Given the description of an element on the screen output the (x, y) to click on. 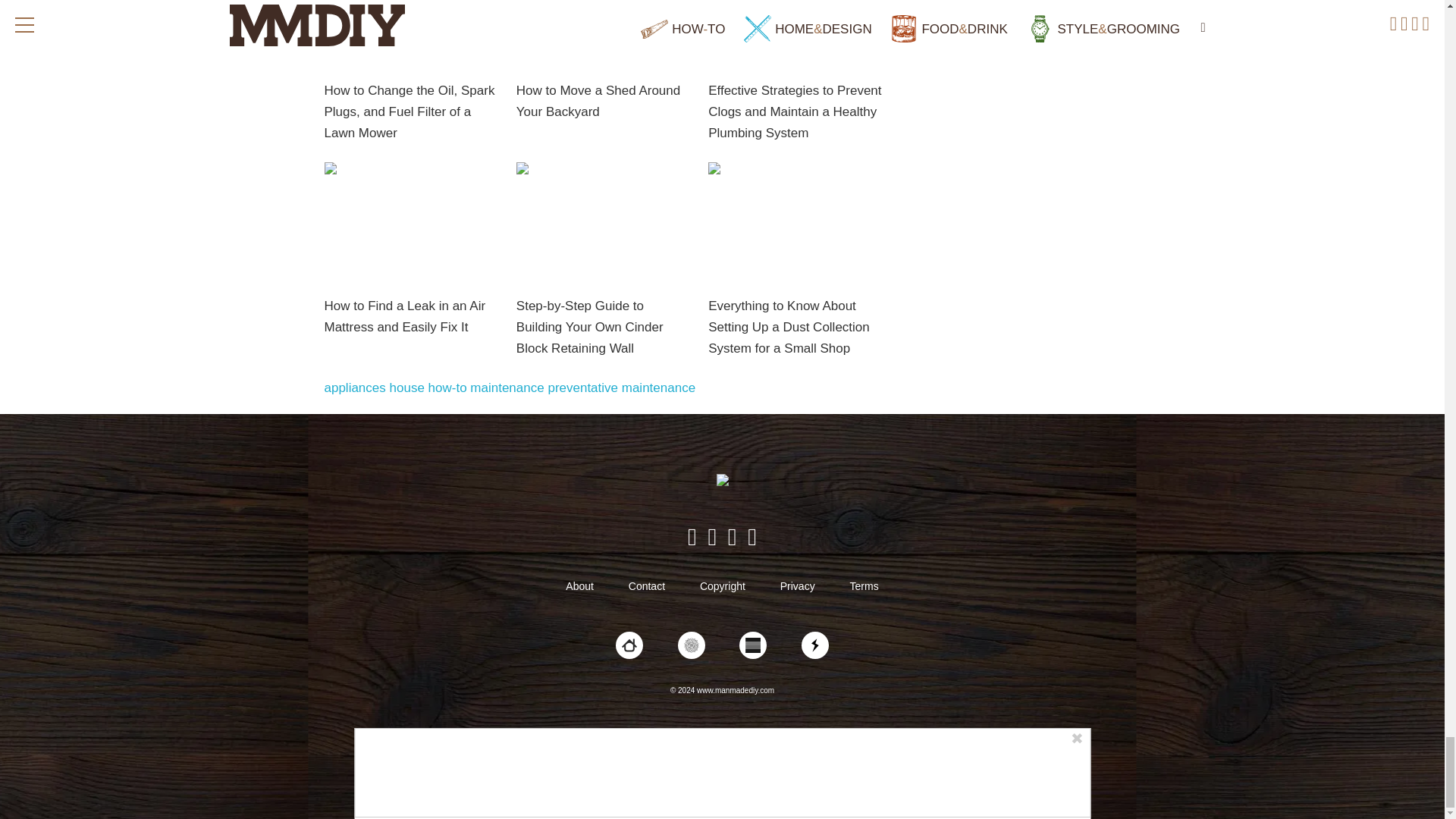
I Waste So Much Time (753, 644)
Decoist (629, 644)
Higher Perspectives (691, 644)
Slow Robot (815, 644)
